Given the description of an element on the screen output the (x, y) to click on. 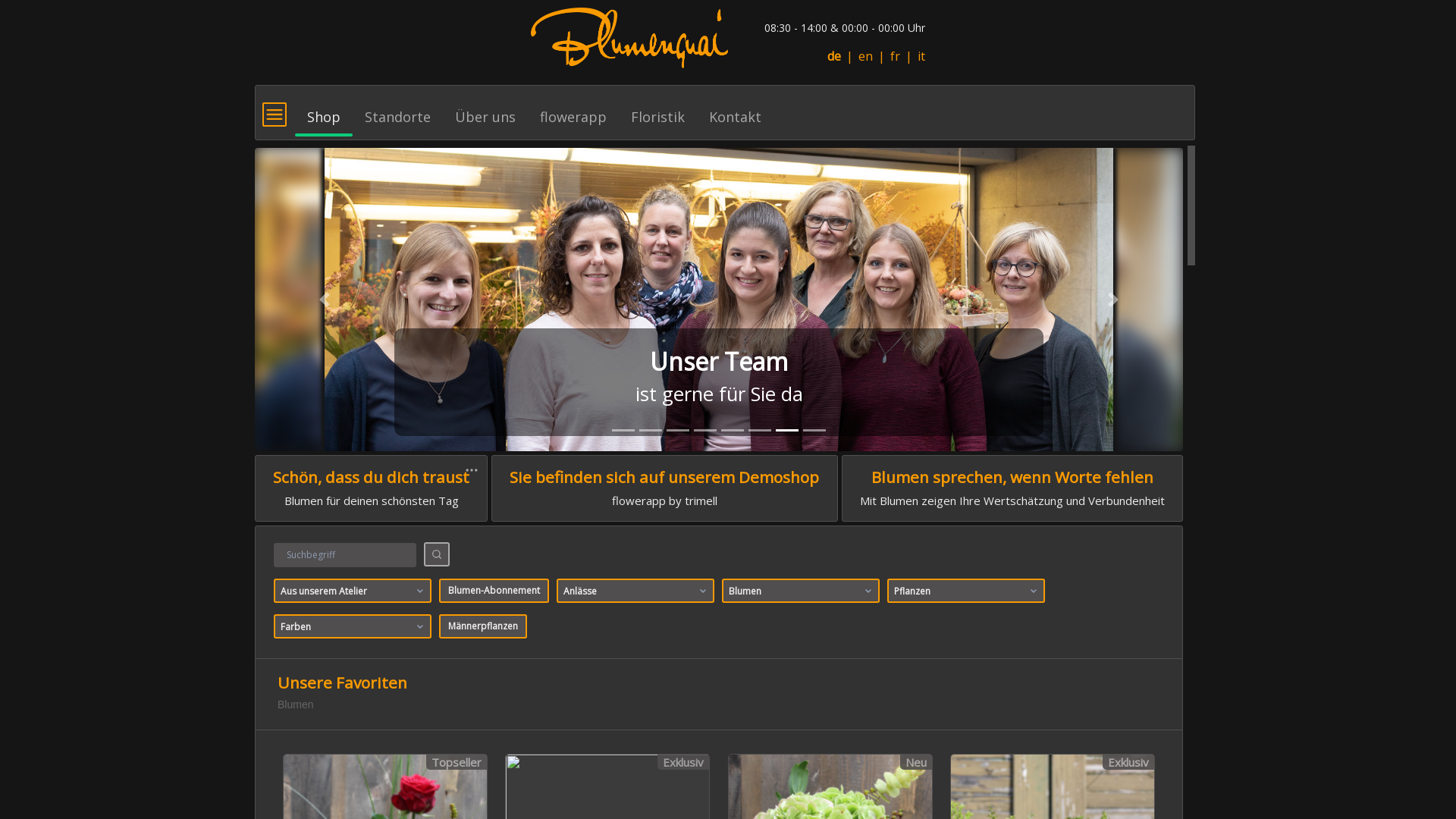
Shop Element type: text (323, 109)
flowerapp Element type: text (572, 109)
Aus unserem Atelier Element type: text (352, 590)
Exklusiv Element type: text (1128, 761)
Floristik Element type: text (657, 109)
Pflanzen Element type: text (965, 590)
Blumen Element type: text (800, 590)
Kontakt Element type: text (734, 109)
Standorte Element type: text (397, 109)
Exklusiv Element type: text (683, 761)
Topseller Element type: text (456, 761)
Next Element type: text (1113, 299)
Blumen-Abonnement Element type: text (494, 590)
Previous Element type: text (324, 299)
Neu Element type: text (915, 761)
Farben Element type: text (352, 626)
